Given the description of an element on the screen output the (x, y) to click on. 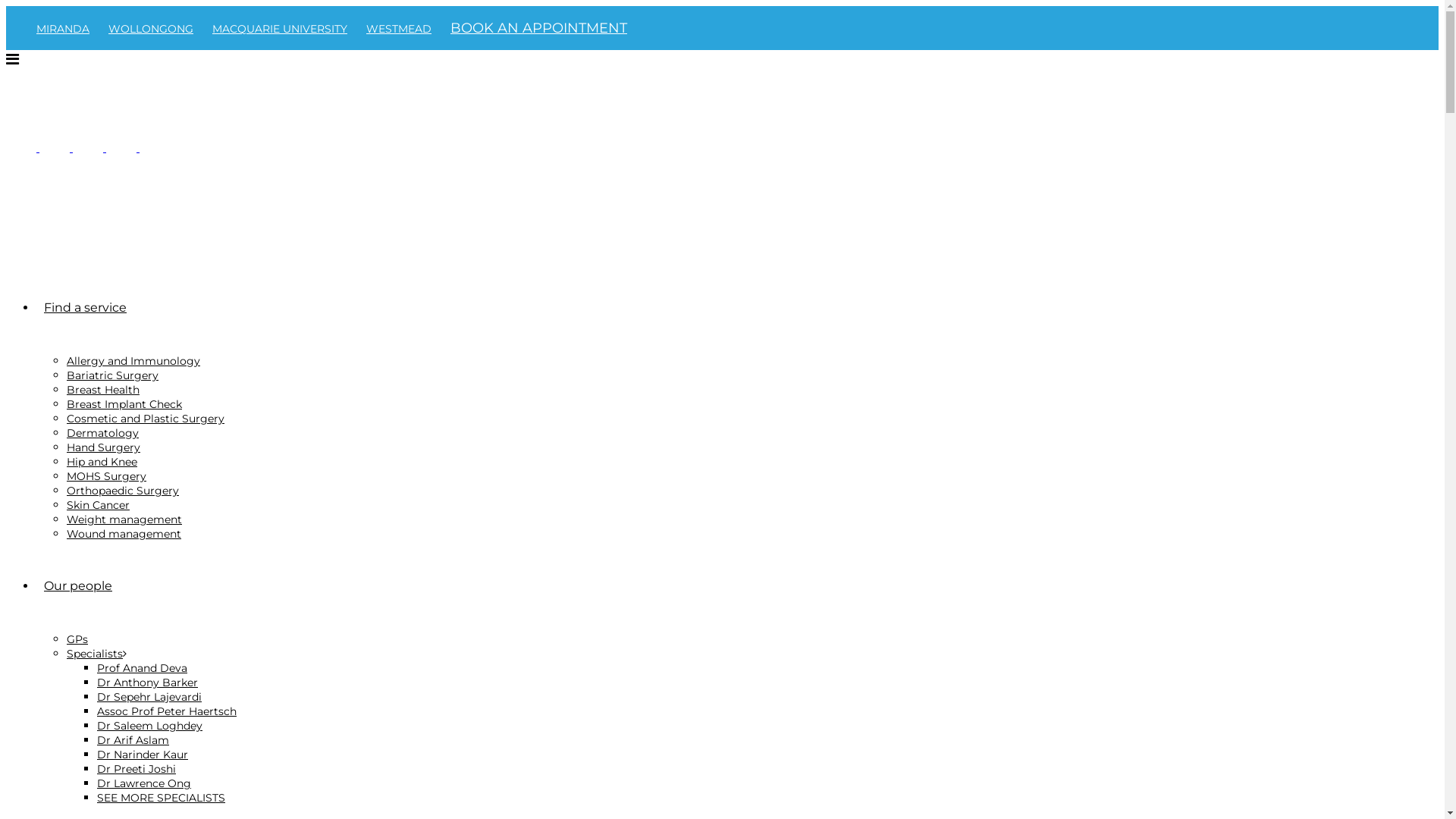
Dr Sepehr Lajevardi Element type: text (149, 696)
Dr Preeti Joshi Element type: text (136, 768)
Dr Anthony Barker Element type: text (147, 682)
GPs Element type: text (76, 639)
WOLLONGONG Element type: text (158, 28)
WESTMEAD Element type: text (406, 28)
MACQUARIE UNIVERSITY Element type: text (287, 28)
Specialists Element type: text (96, 653)
Wound management Element type: text (123, 533)
MOHS Surgery Element type: text (106, 476)
Find a service Element type: text (85, 307)
Breast Implant Check Element type: text (124, 404)
Weight management Element type: text (124, 519)
Dr Lawrence Ong Element type: text (144, 783)
Hand Surgery Element type: text (103, 447)
Dr Saleem Loghdey Element type: text (149, 725)
Dr Arif Aslam Element type: text (133, 739)
Orthopaedic Surgery Element type: text (122, 490)
Hip and Knee Element type: text (101, 461)
Cosmetic and Plastic Surgery Element type: text (145, 418)
BOOK AN APPOINTMENT Element type: text (538, 27)
Dermatology Element type: text (102, 432)
MIRANDA Element type: text (70, 28)
SEE MORE SPECIALISTS Element type: text (161, 797)
Bariatric Surgery Element type: text (112, 375)
Allergy and Immunology Element type: text (133, 360)
Prof Anand Deva Element type: text (142, 667)
Skin Cancer Element type: text (97, 504)
Breast Health Element type: text (102, 389)
Dr Narinder Kaur Element type: text (142, 754)
Assoc Prof Peter Haertsch Element type: text (166, 711)
Our people Element type: text (77, 585)
